Given the description of an element on the screen output the (x, y) to click on. 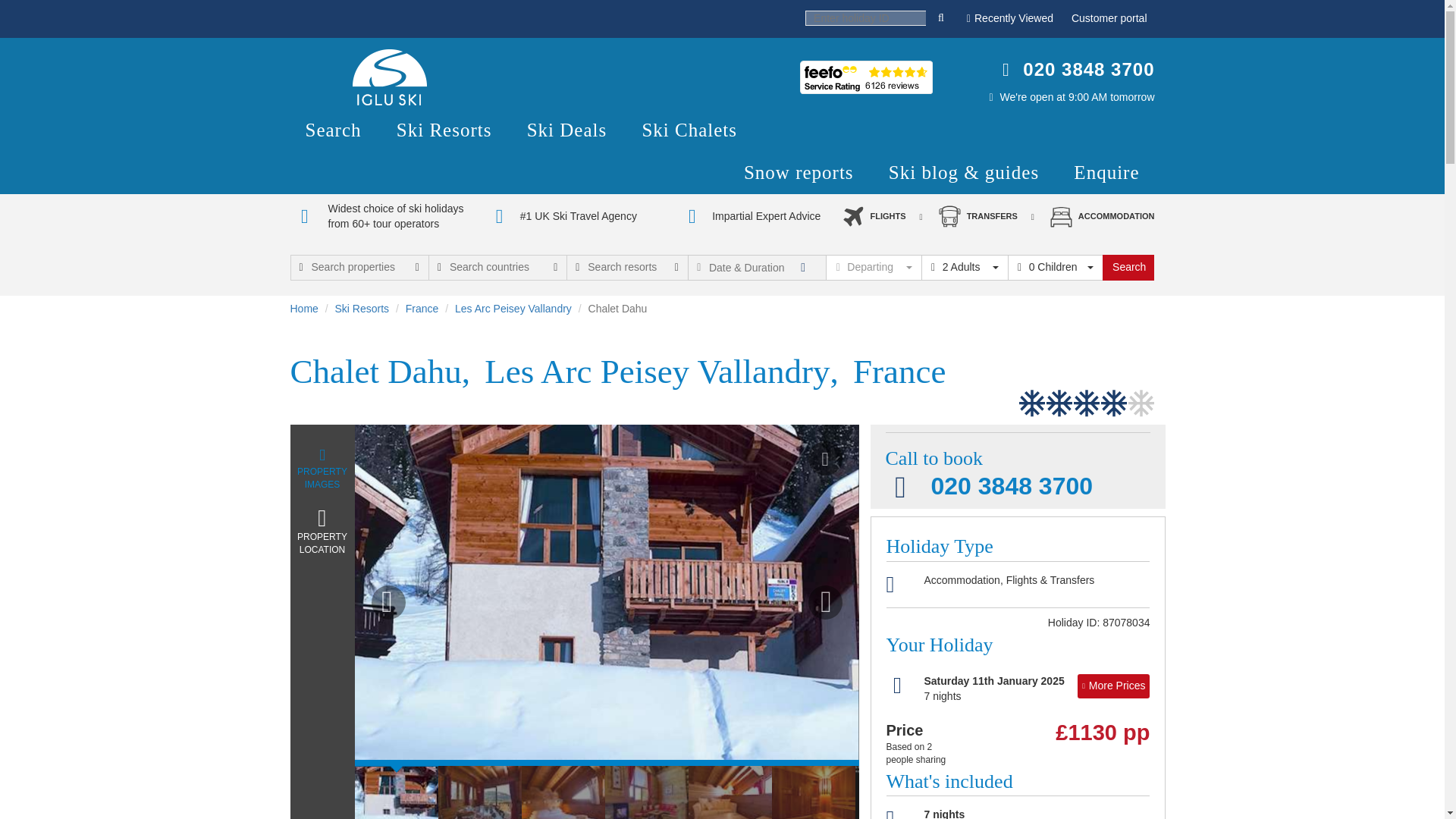
Search (332, 129)
Customer portal (1109, 18)
Ski Resorts (443, 129)
Recently Viewed (1009, 18)
We're open at 9:00 AM tomorrow (1077, 96)
Call Our Team (1088, 68)
Search (1128, 267)
Search site or enter holiday ID (941, 17)
Departing (872, 267)
See (866, 77)
Search (1128, 267)
